Given the description of an element on the screen output the (x, y) to click on. 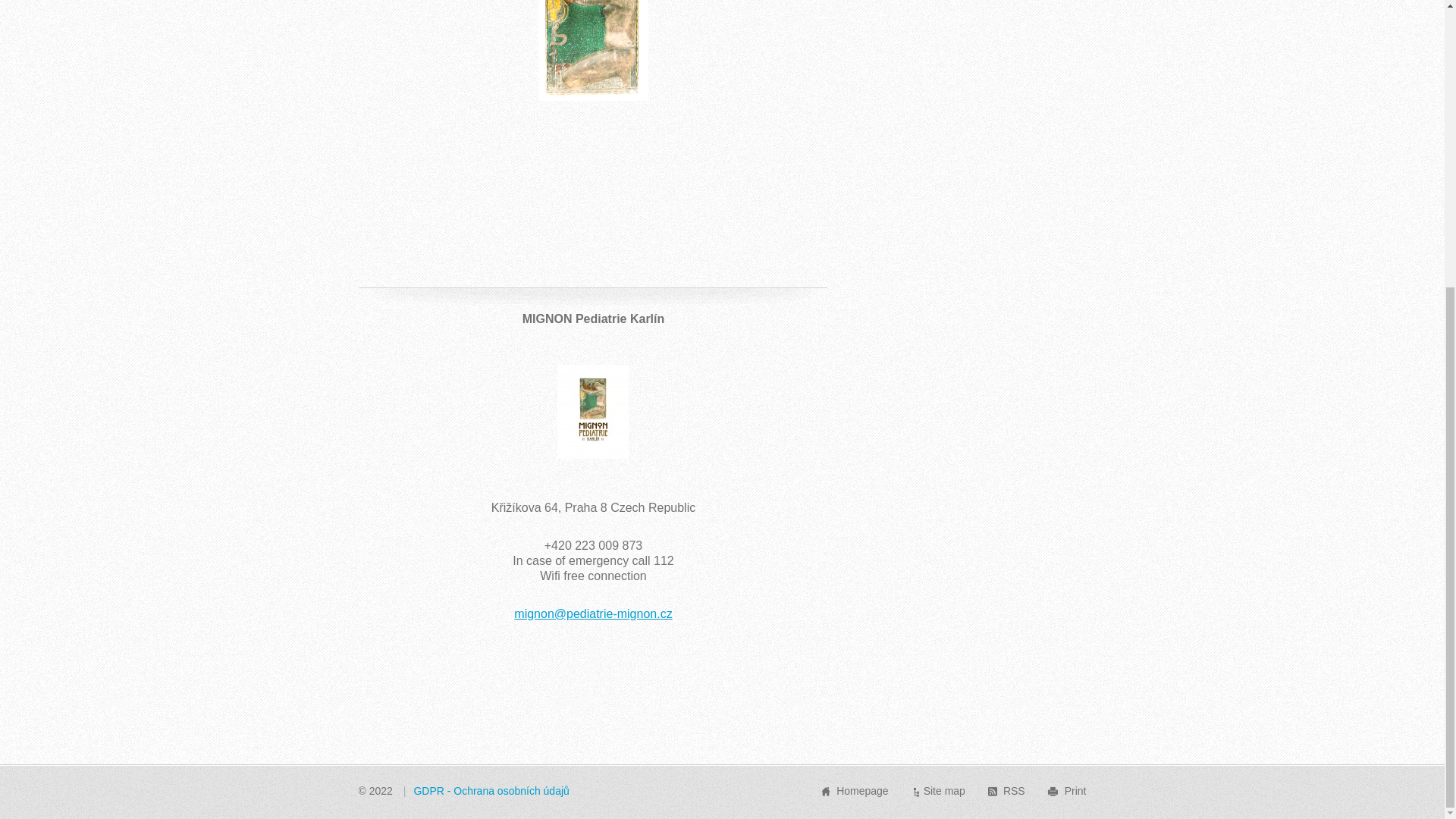
Print page (1075, 790)
Homepage (861, 790)
Go to Homepage. (861, 790)
RSS (1014, 790)
RSS Feeds (1014, 790)
Print (1075, 790)
Go to site map. (944, 790)
Site map (944, 790)
